Given the description of an element on the screen output the (x, y) to click on. 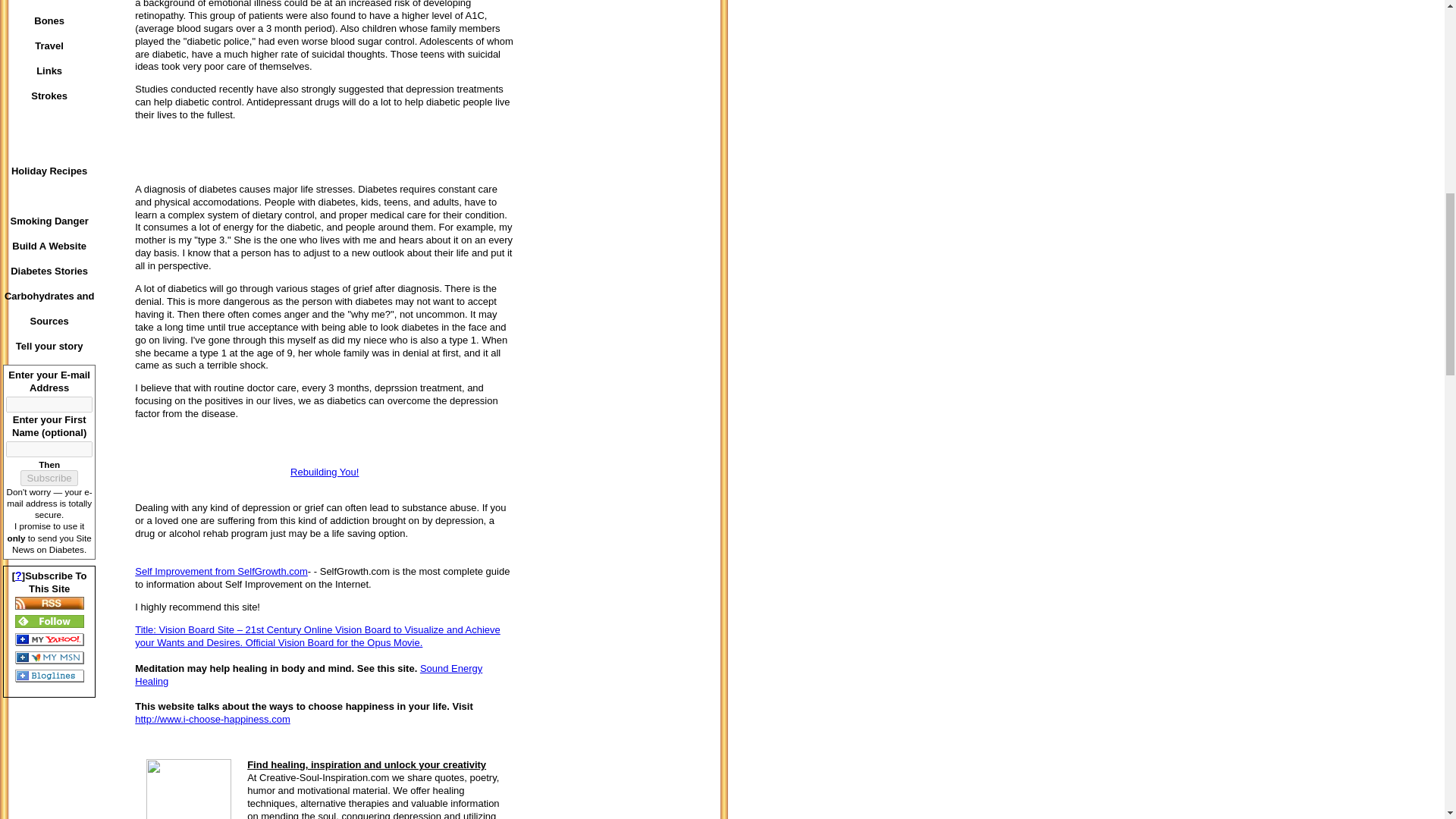
Smoking Danger (49, 220)
Travel (49, 45)
Diabetes Stories (49, 270)
Strokes (49, 95)
Dental Health (49, 4)
Bones (49, 20)
Holiday Recipes (49, 170)
Build A Website (49, 245)
Links (49, 70)
Subscribe (48, 478)
